Given the description of an element on the screen output the (x, y) to click on. 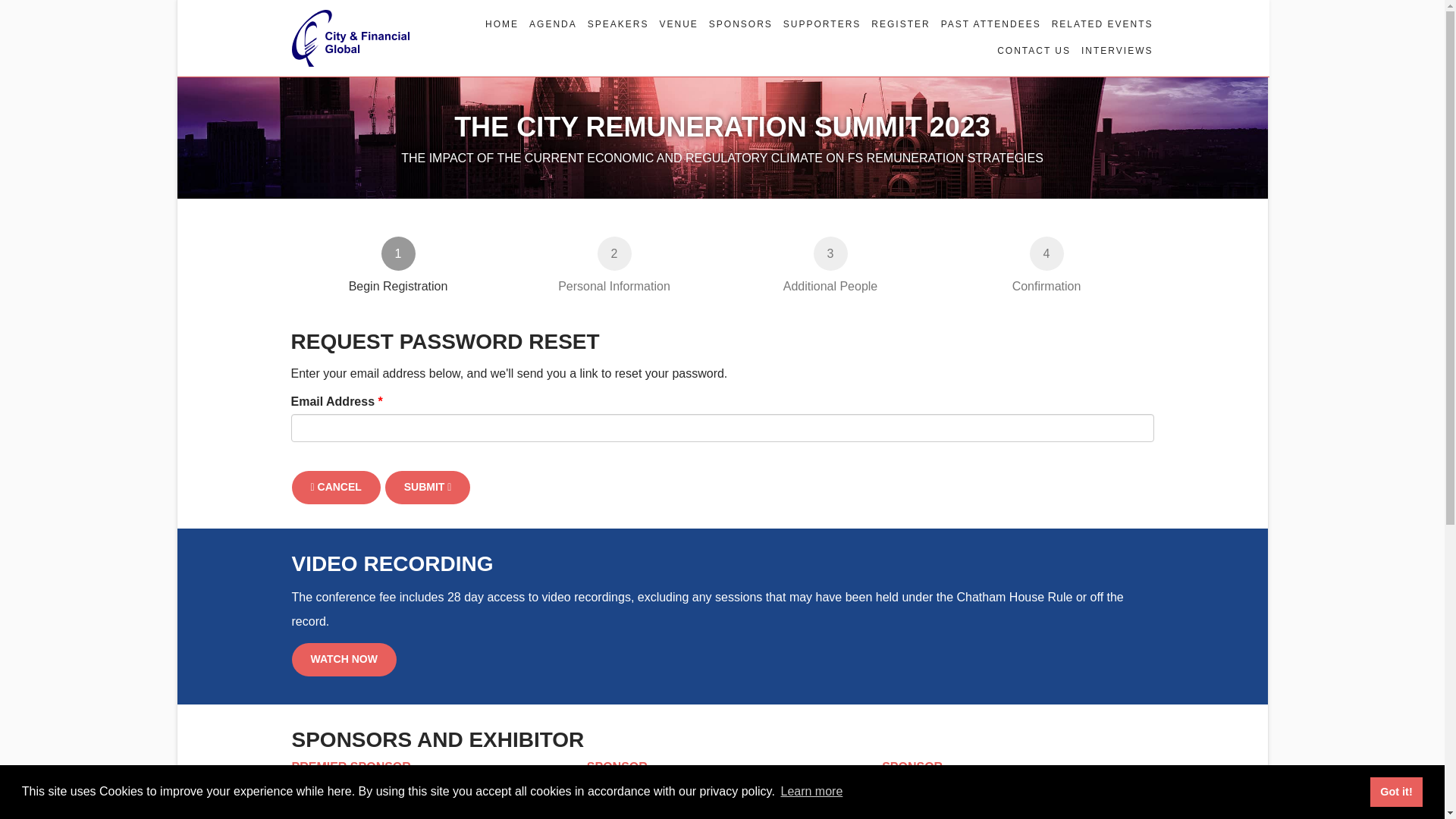
WATCH NOW (343, 659)
PAST ATTENDEES (988, 24)
VENUE (675, 24)
SUPPORTERS (829, 266)
SPONSORS (818, 24)
SUBMIT (614, 266)
Learn more (737, 24)
HOME (427, 487)
